Given the description of an element on the screen output the (x, y) to click on. 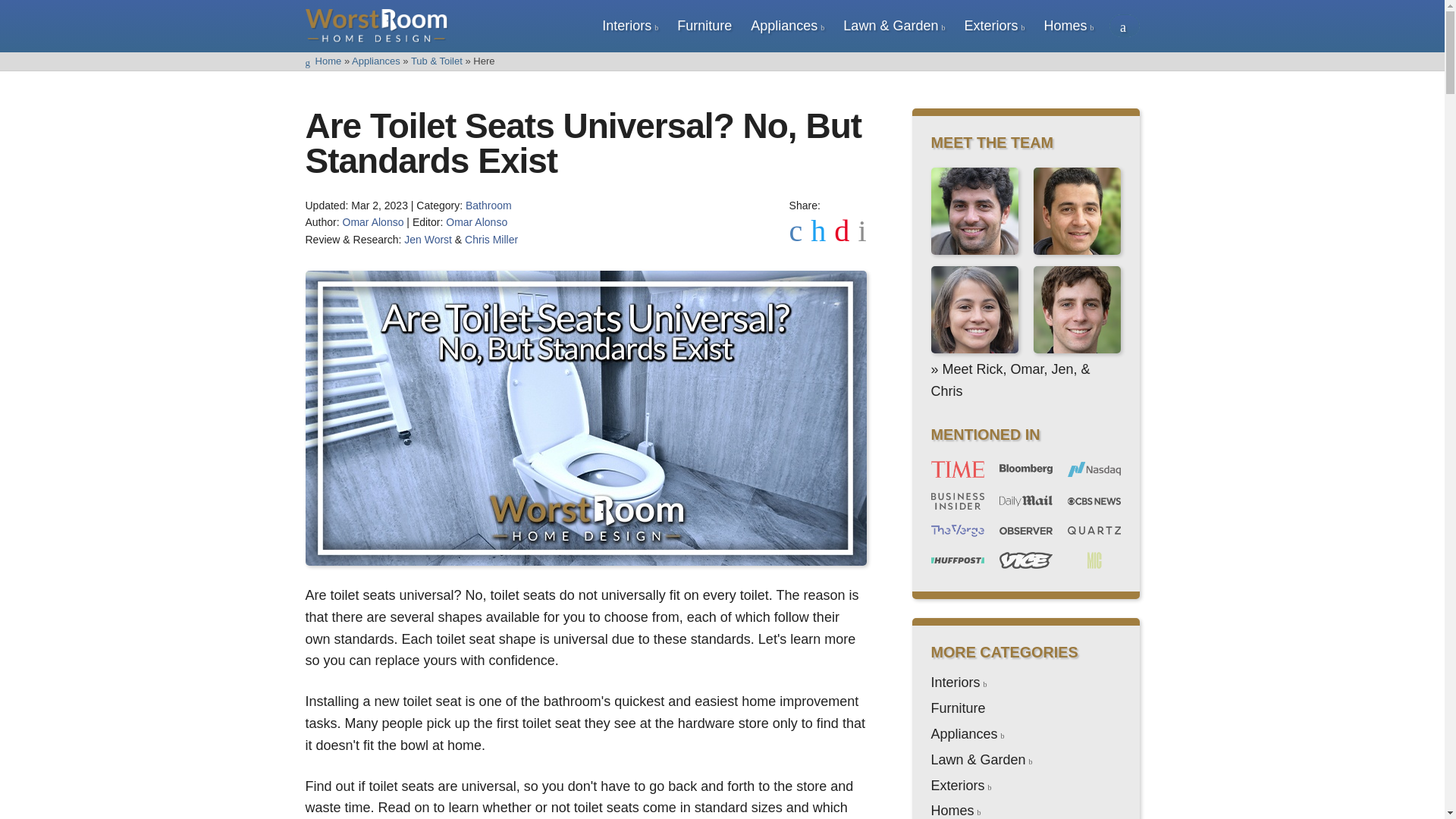
Home (322, 60)
Omar Alonso (475, 222)
Furniture (704, 25)
Omar Alonso (373, 222)
Jen Worst (427, 239)
Chris Miller (491, 239)
Bathroom (488, 205)
Appliances (376, 60)
Appliances (783, 25)
Exteriors (990, 25)
Homes (1064, 25)
Interiors (626, 25)
